Given the description of an element on the screen output the (x, y) to click on. 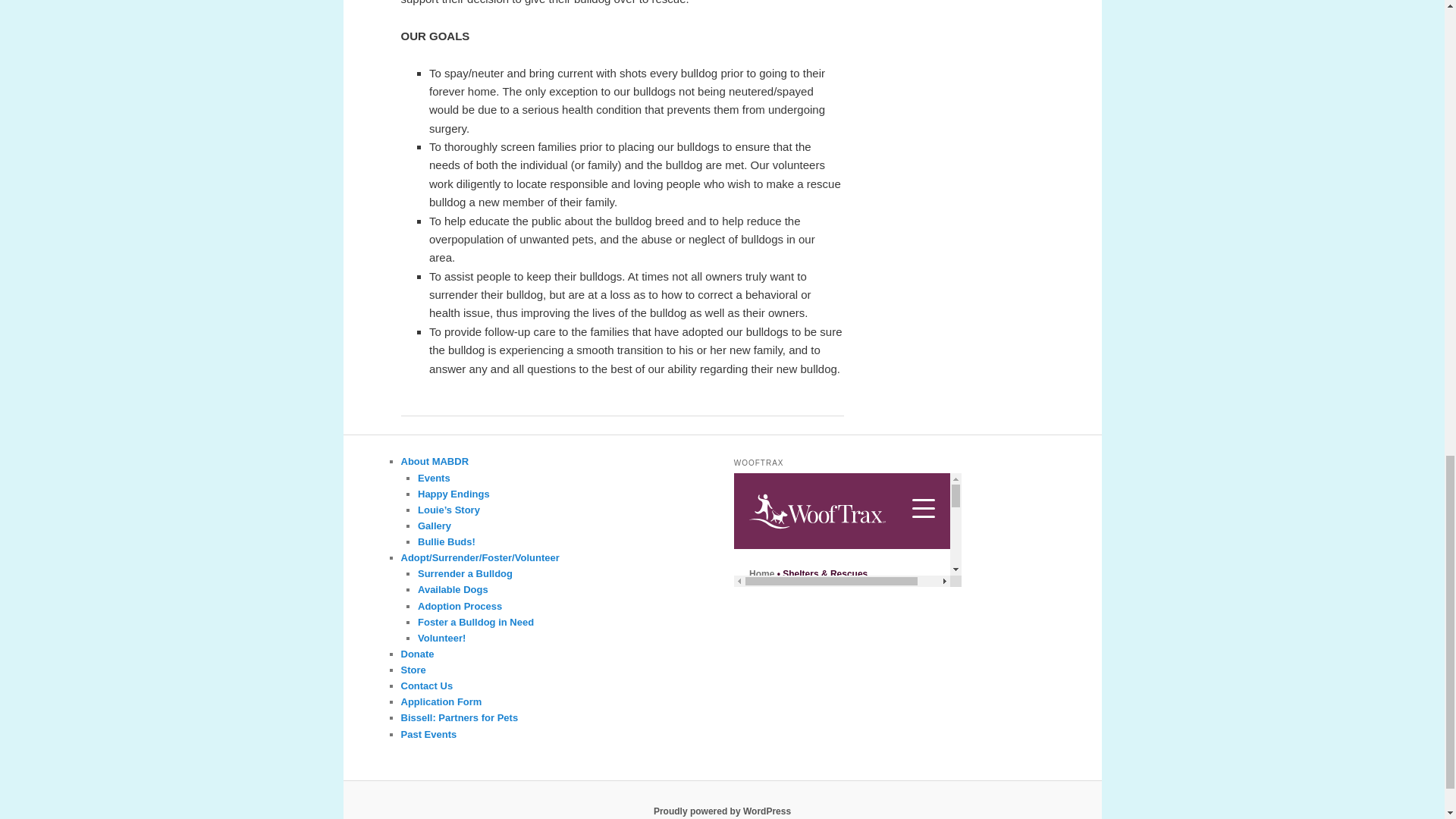
Proudly powered by WordPress (721, 810)
Bullie Buds! (446, 541)
Available Dogs (452, 589)
Foster a Bulldog in Need (475, 622)
Contact Us (426, 685)
Bissell: Partners for Pets (459, 717)
Events (433, 478)
Volunteer! (441, 637)
Semantic Personal Publishing Platform (721, 810)
Store (412, 669)
Gallery (434, 525)
Happy Endings (453, 493)
About MABDR (434, 460)
Surrender a Bulldog (464, 573)
Adoption Process (459, 605)
